Given the description of an element on the screen output the (x, y) to click on. 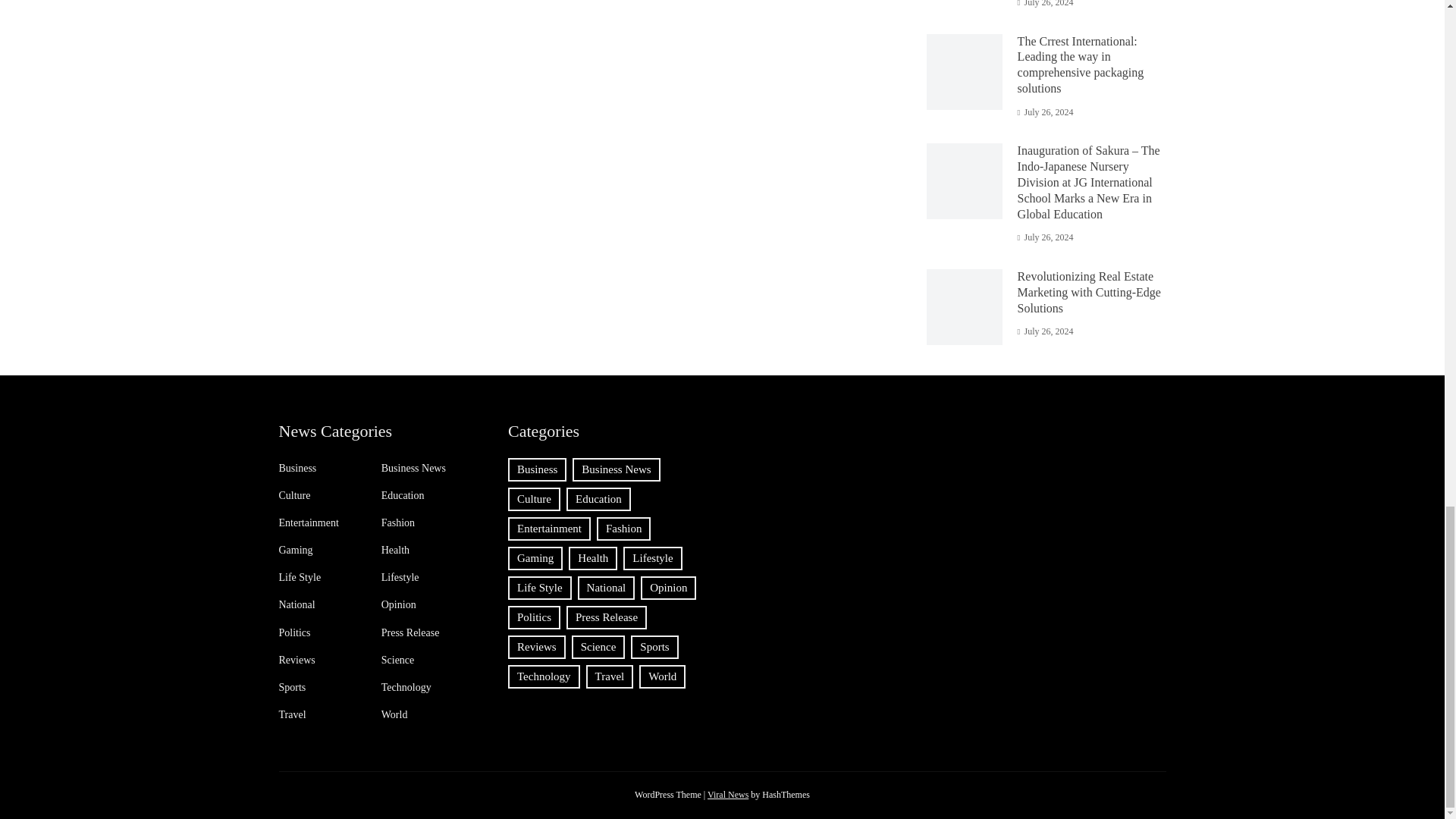
Download Viral News (727, 794)
